Given the description of an element on the screen output the (x, y) to click on. 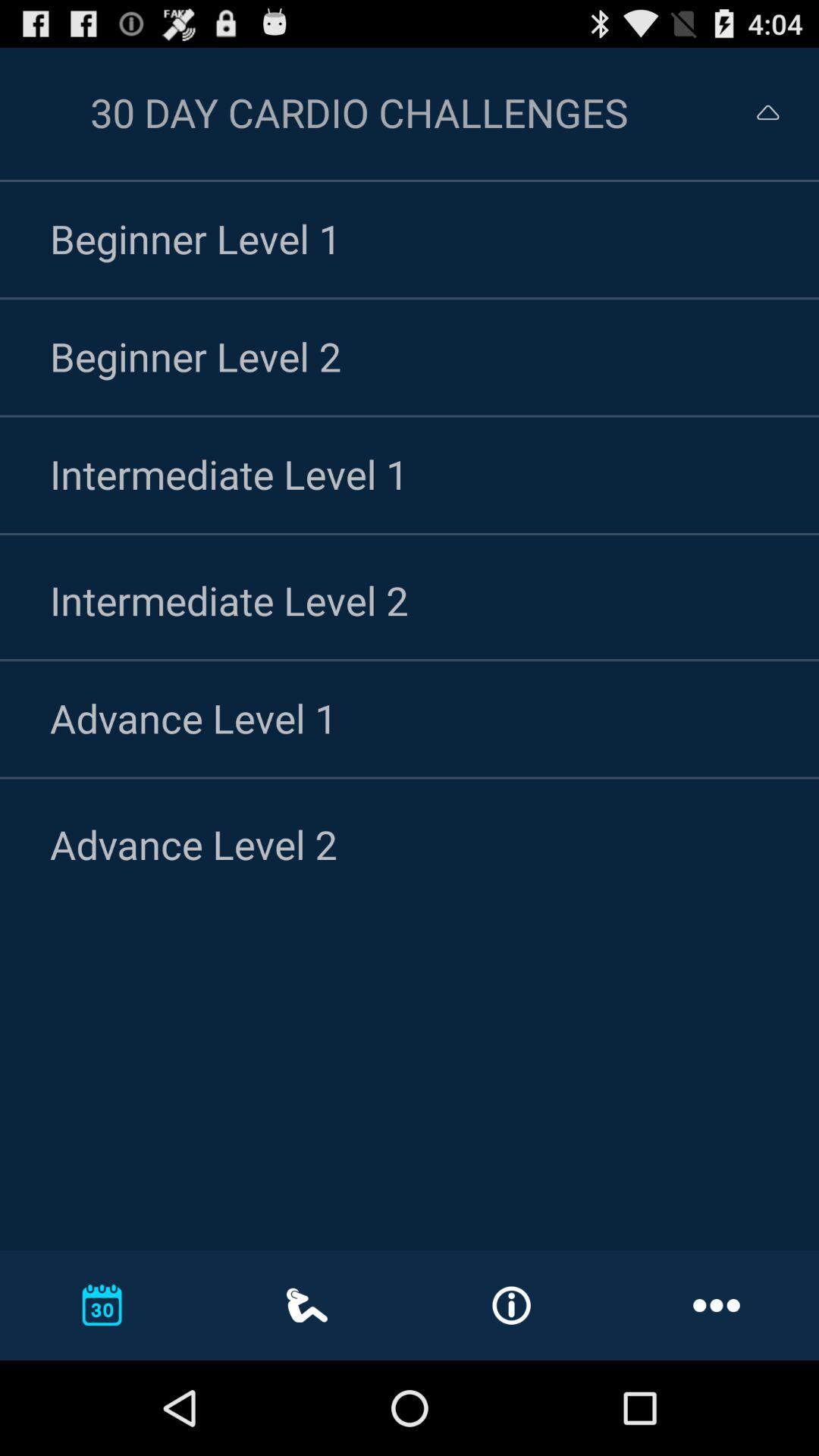
menu option (754, 112)
